Given the description of an element on the screen output the (x, y) to click on. 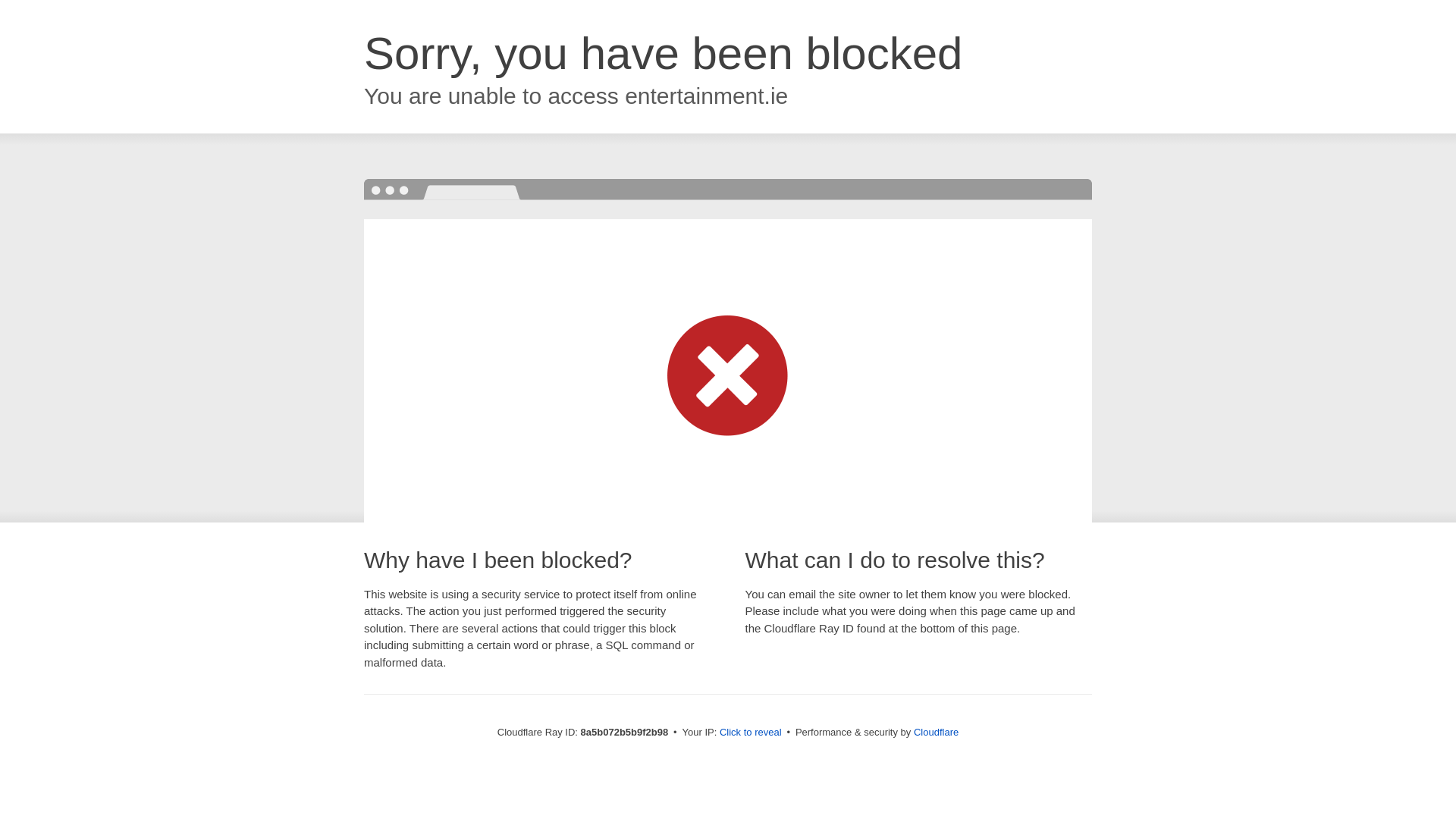
Click to reveal (750, 732)
Cloudflare (936, 731)
